Given the description of an element on the screen output the (x, y) to click on. 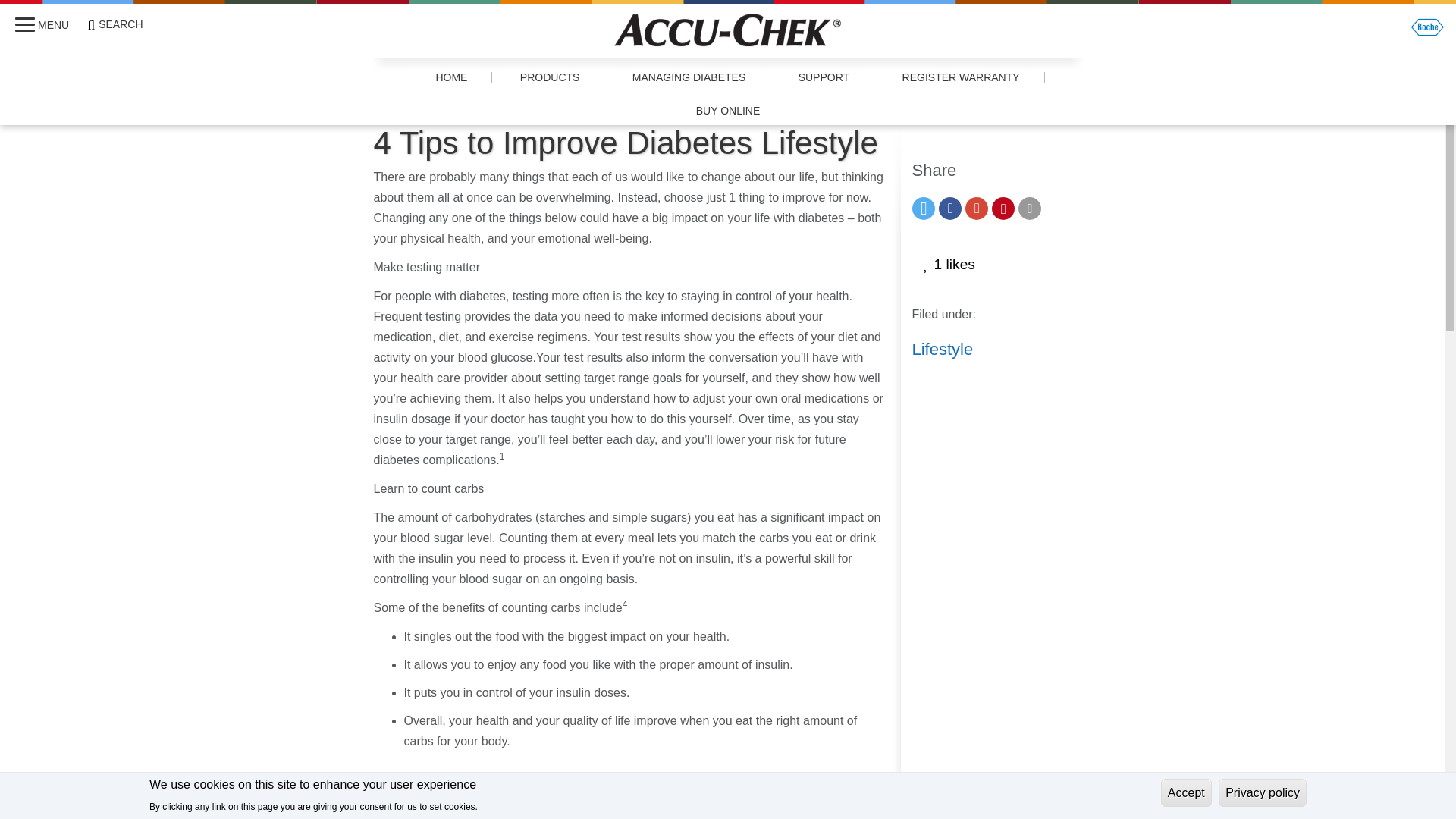
Roche (1427, 38)
SEARCH SEARCH (114, 27)
HOME (451, 77)
PRODUCTS (49, 24)
